Given the description of an element on the screen output the (x, y) to click on. 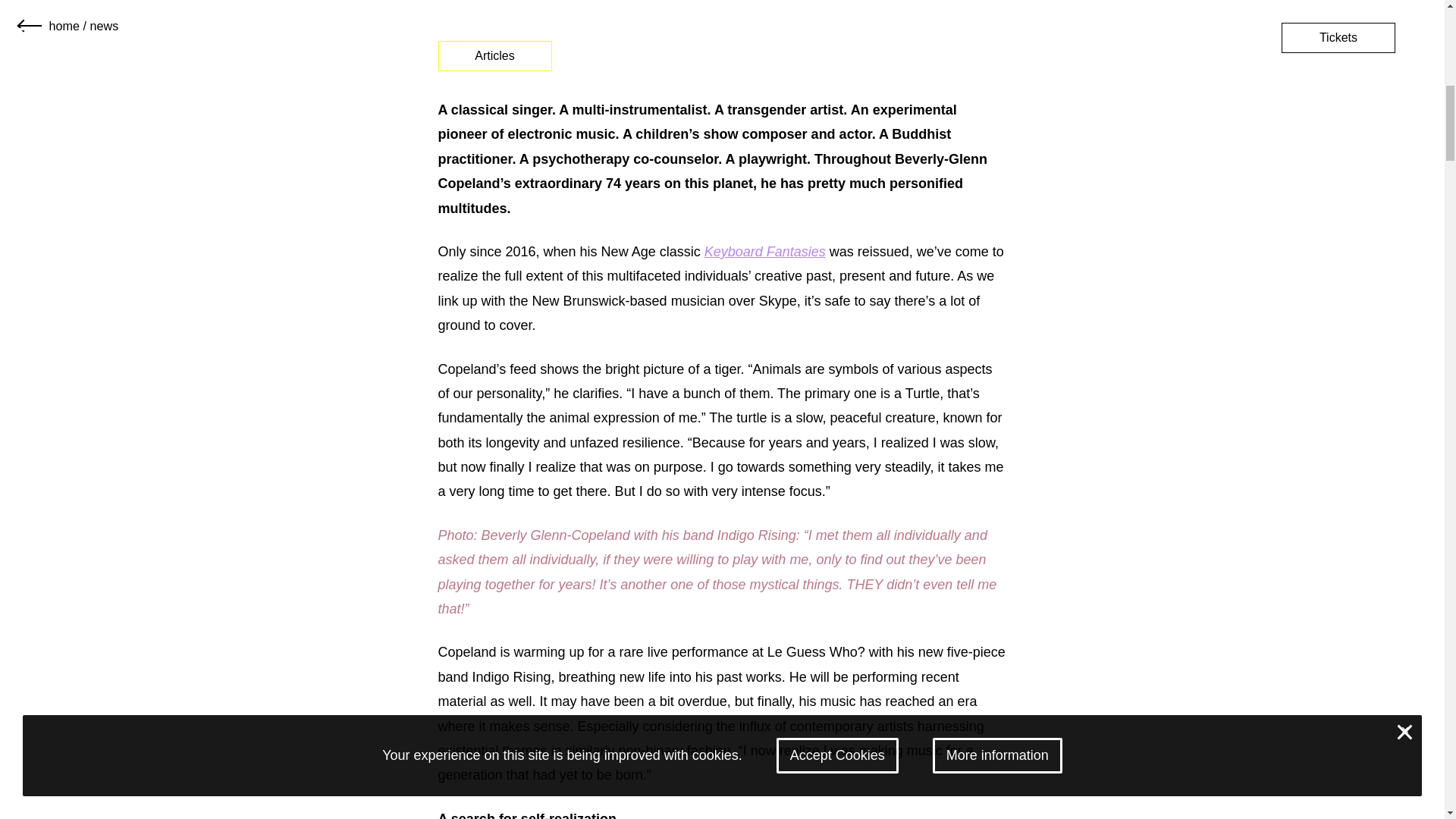
Keyboard Fantasies (764, 251)
home (64, 25)
Articles (494, 55)
news (102, 25)
